Given the description of an element on the screen output the (x, y) to click on. 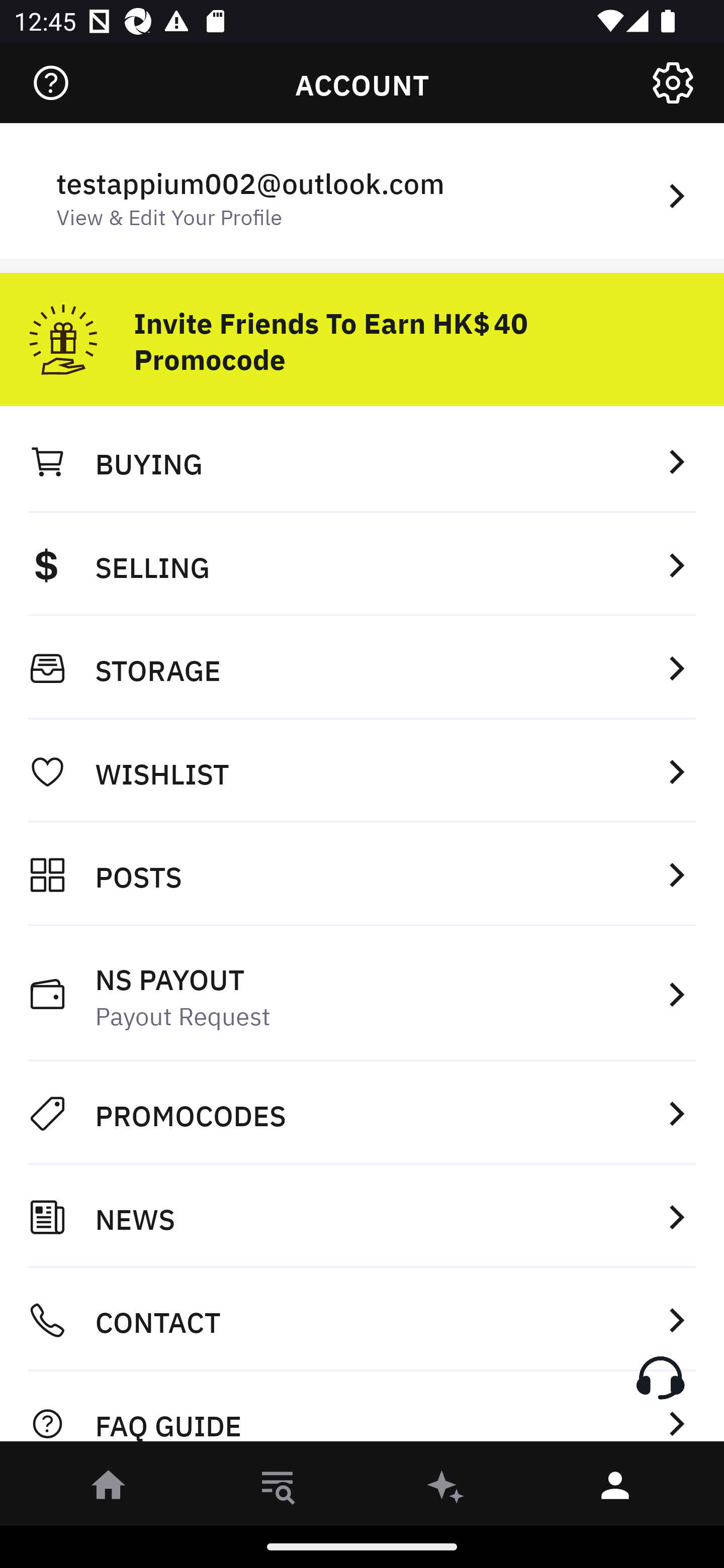
 (50, 83)
 (672, 83)
Invite Friends To Earn HK$ 40 Promocode (362, 332)
 BUYING  (361, 460)
 SELLING  (361, 564)
 STORAGE  (361, 667)
 WISHLIST  (361, 771)
 POSTS  (361, 874)
 0 NS PAYOUT Payout Request  (361, 993)
 PROMOCODES  (361, 1113)
 NEWS  (361, 1216)
 CONTACT  (361, 1320)
 FAQ GUIDE  (361, 1411)
󰋜 (108, 1488)
󱎸 (277, 1488)
󰫢 (446, 1488)
󰀄 (615, 1488)
